Given the description of an element on the screen output the (x, y) to click on. 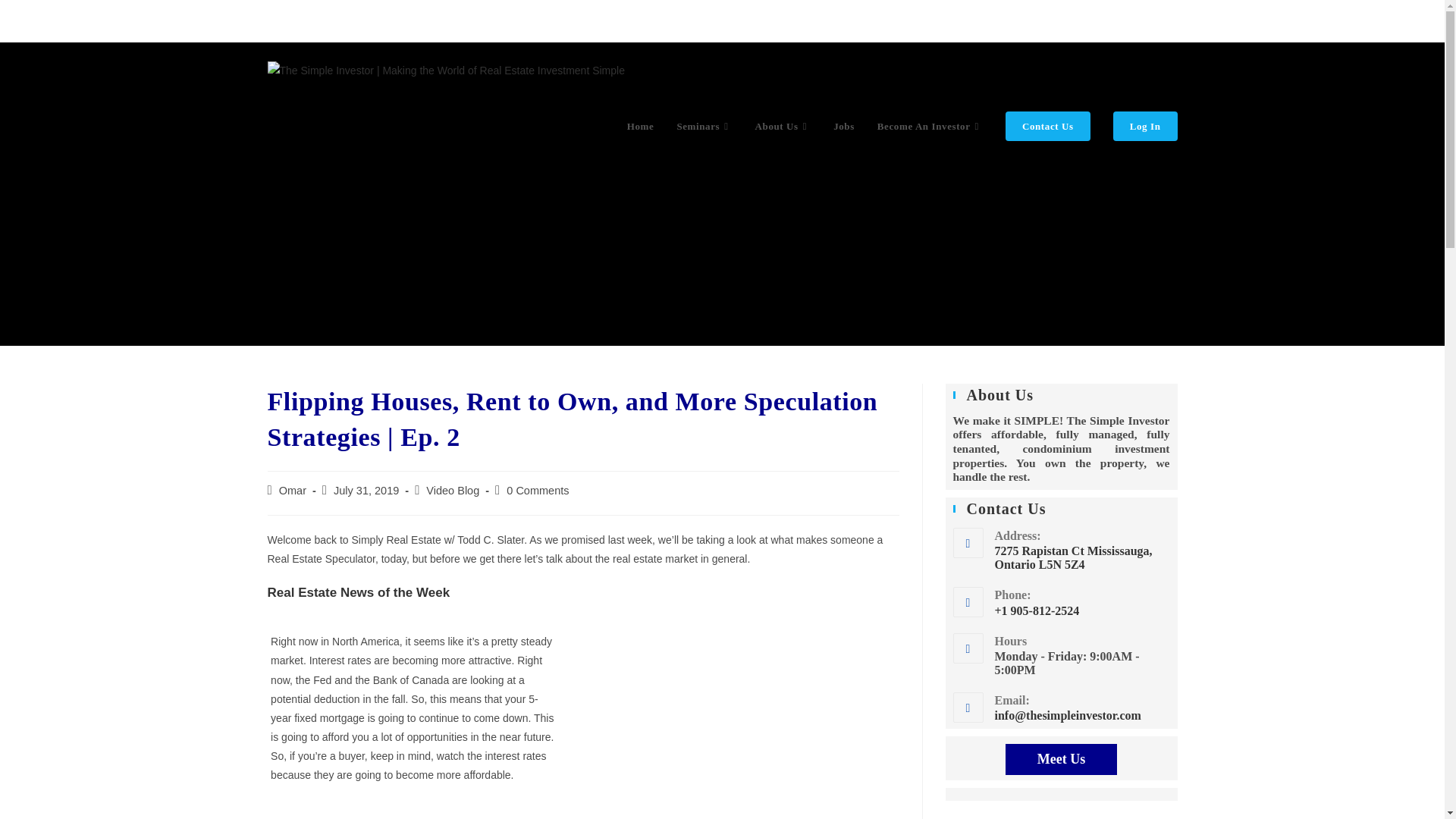
7275 Rapistan Ct Mississauga, Ontario L5N 5Z4 (1082, 557)
Home (640, 126)
Video Blog (452, 490)
Omar (292, 490)
Contact Us (1048, 126)
Posts by Omar (292, 490)
0 Comments (537, 490)
Seminars (703, 126)
Log In (1145, 126)
Become An Investor (930, 126)
